Given the description of an element on the screen output the (x, y) to click on. 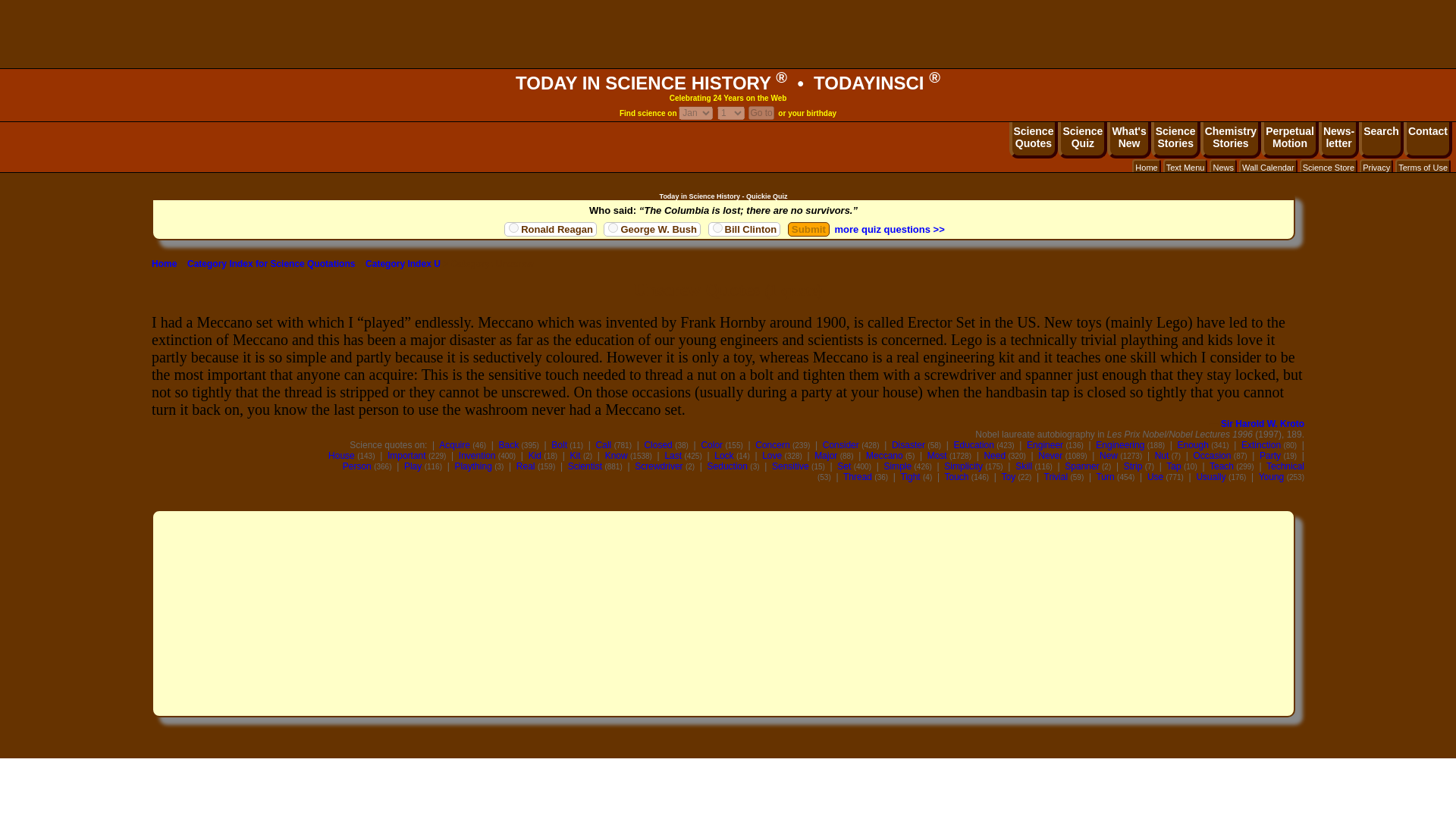
Search the site (1380, 140)
Consider (840, 444)
Contact (1427, 140)
Home (1229, 140)
Engineer (1146, 167)
Category Index U (1044, 444)
News feeds (403, 263)
